Given the description of an element on the screen output the (x, y) to click on. 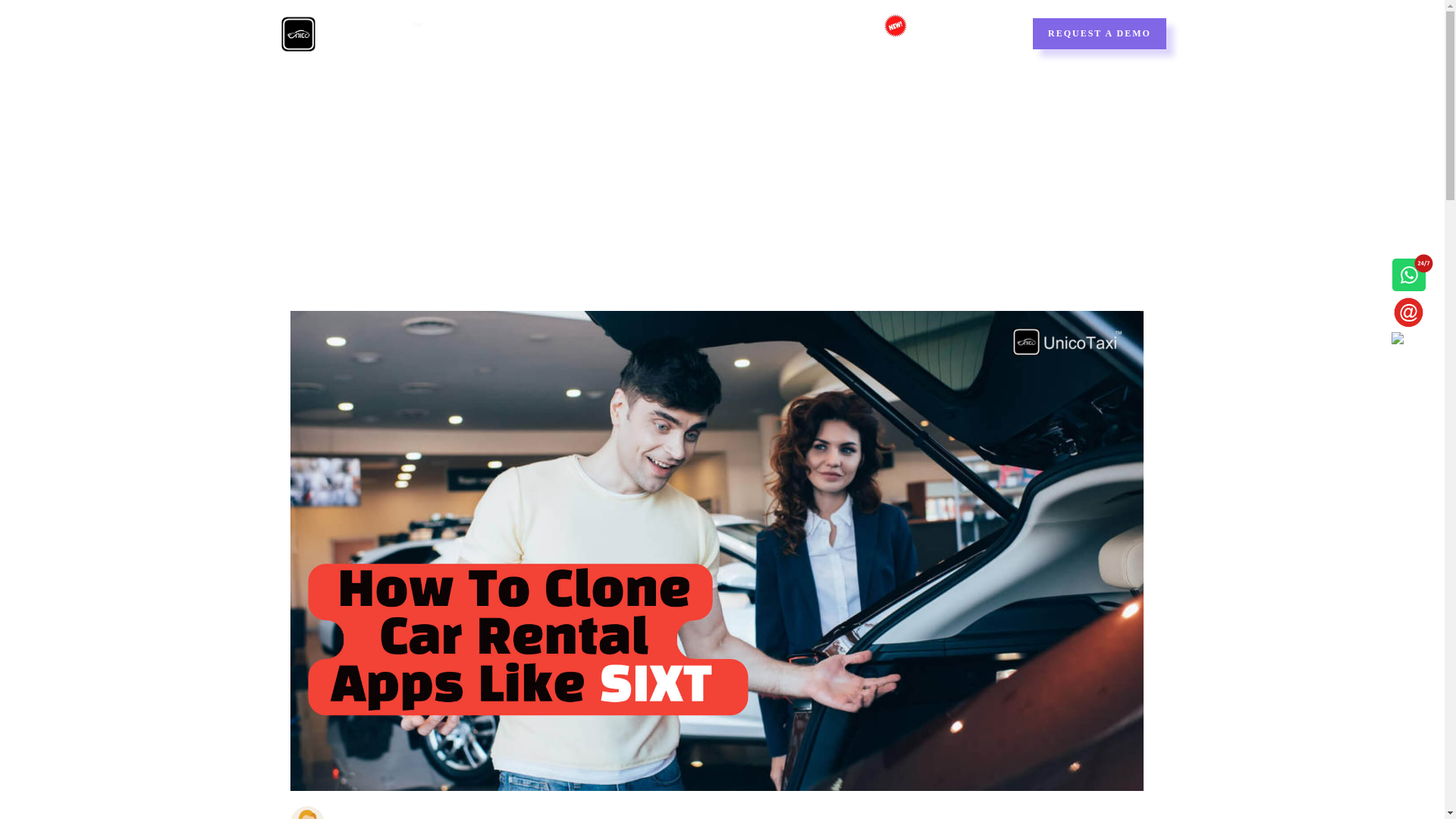
GOJEK CLONE (856, 33)
CONTACT US (968, 33)
SOLUTIONS (654, 33)
REQUEST A DEMO (1099, 31)
CLONE APPS (746, 33)
FEATURES (569, 33)
